Given the description of an element on the screen output the (x, y) to click on. 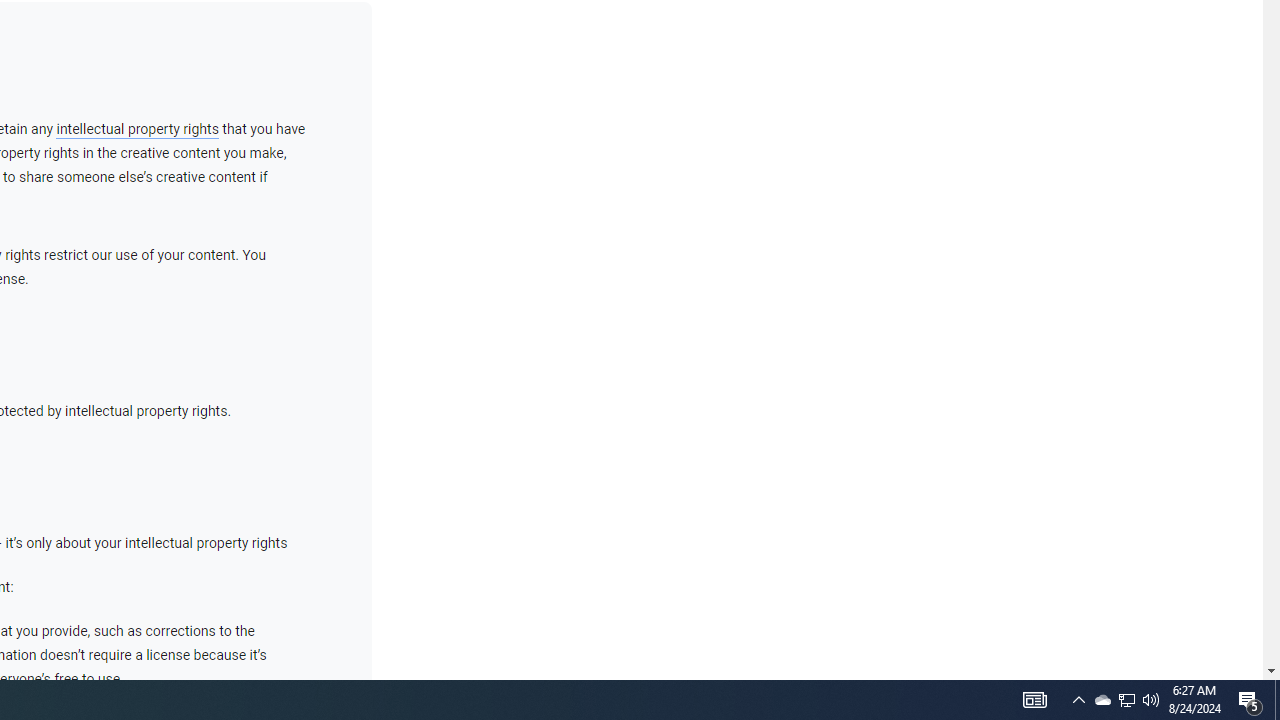
intellectual property rights (137, 129)
